Given the description of an element on the screen output the (x, y) to click on. 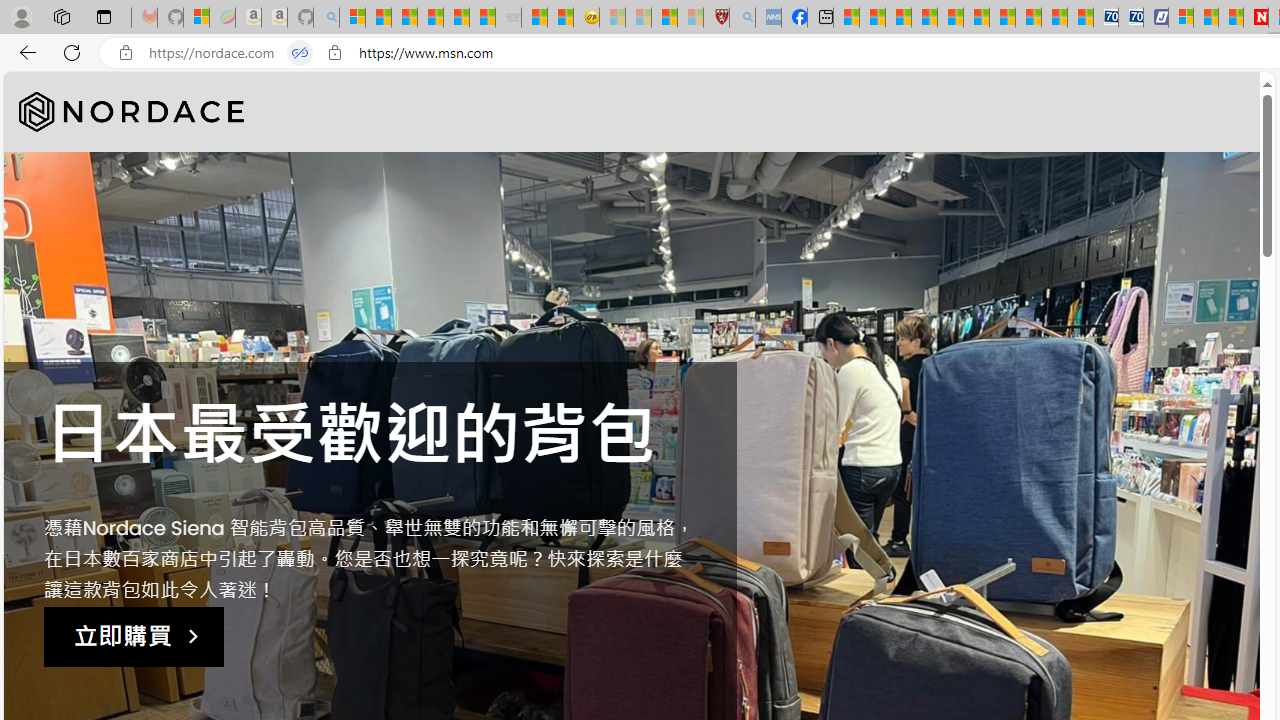
Tabs in split screen (299, 53)
Combat Siege - Sleeping (507, 17)
Climate Damage Becomes Too Severe To Reverse (923, 17)
